Given the description of an element on the screen output the (x, y) to click on. 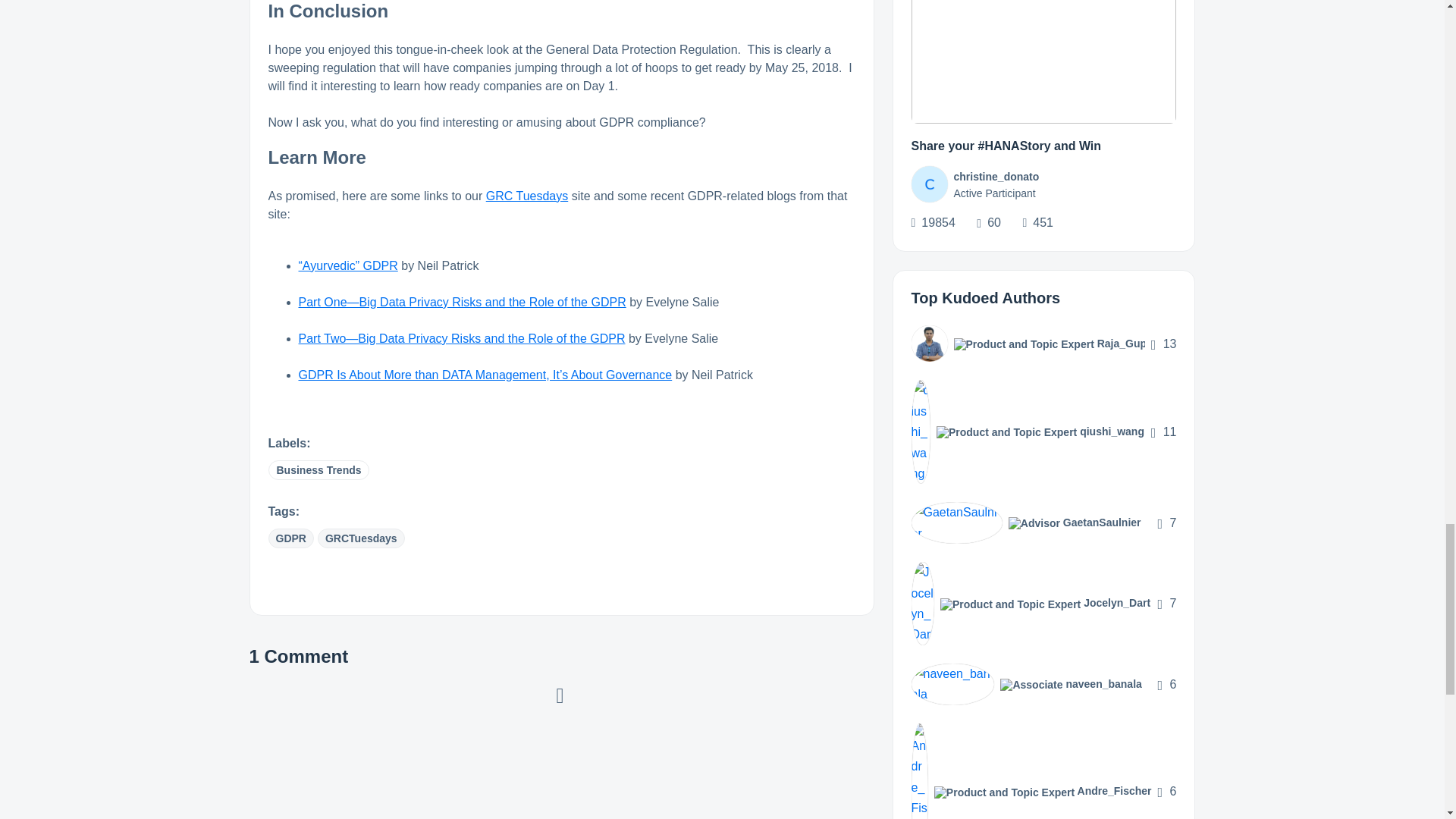
GRC Tuesdays (526, 195)
Business Trends (318, 469)
GRCTuesdays (360, 537)
GDPR (290, 537)
